Given the description of an element on the screen output the (x, y) to click on. 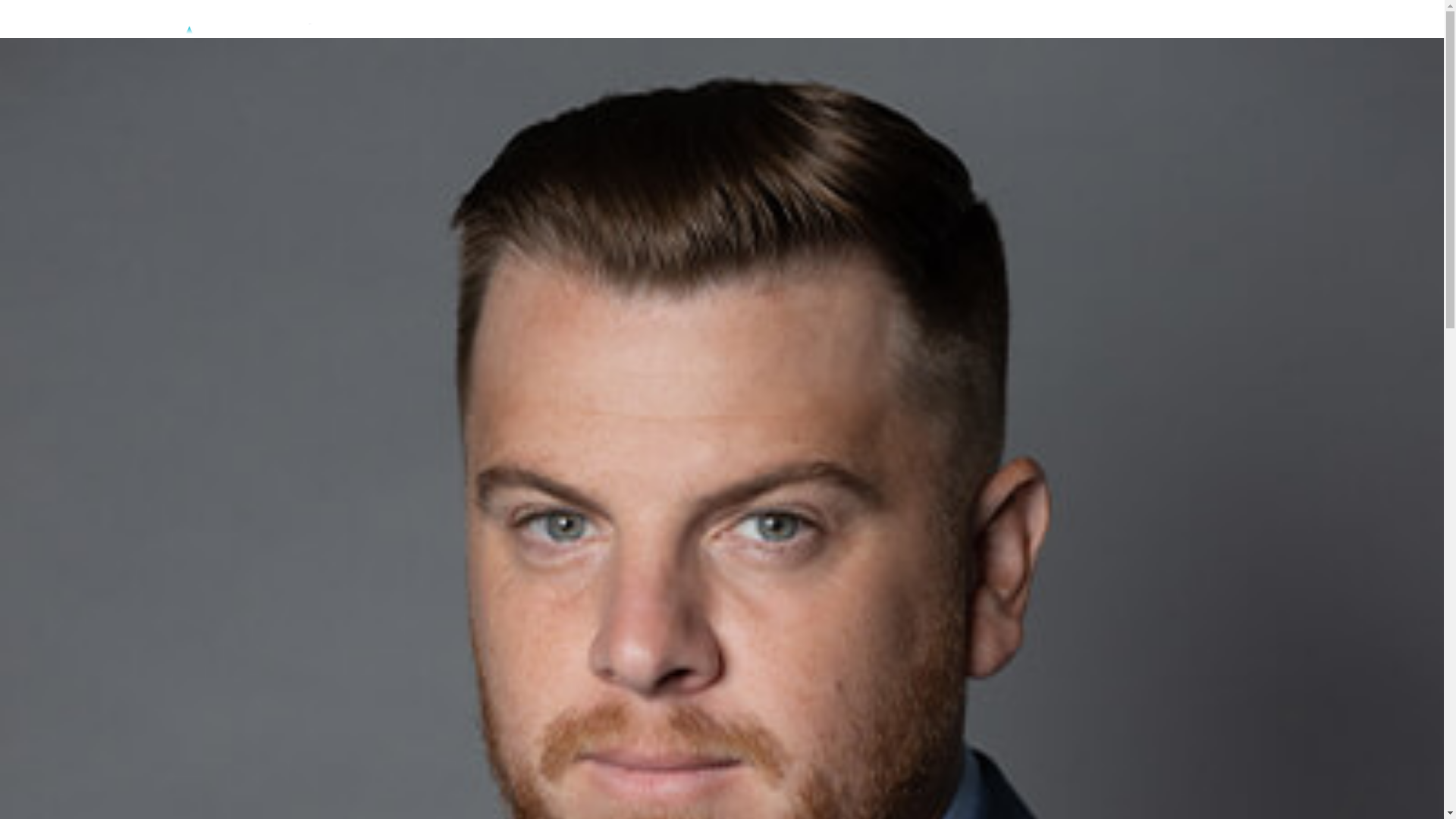
PORTFOLIO (1058, 28)
ABOUT (843, 28)
HOME (790, 28)
INVESTMENT APPROACH (944, 28)
INVESTOR PORTAL (1207, 28)
NEWS (1124, 28)
